Given the description of an element on the screen output the (x, y) to click on. 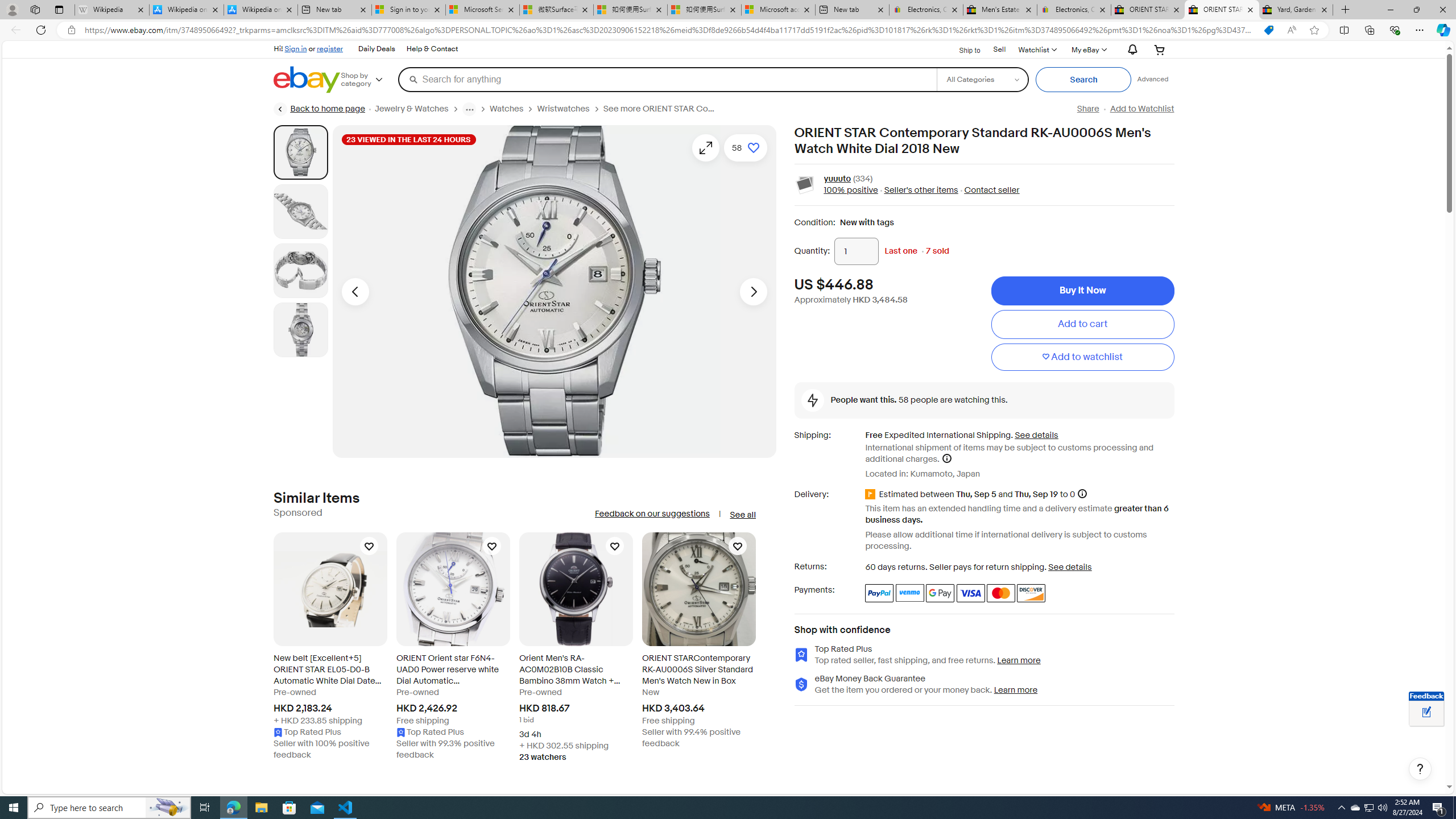
Watches (506, 108)
Master Card (999, 592)
Help & Contact (432, 49)
Previous image - Item images thumbnails (354, 291)
Delivery alert flag (871, 494)
breadcrumb menu (468, 108)
Daily Deals (376, 49)
